Given the description of an element on the screen output the (x, y) to click on. 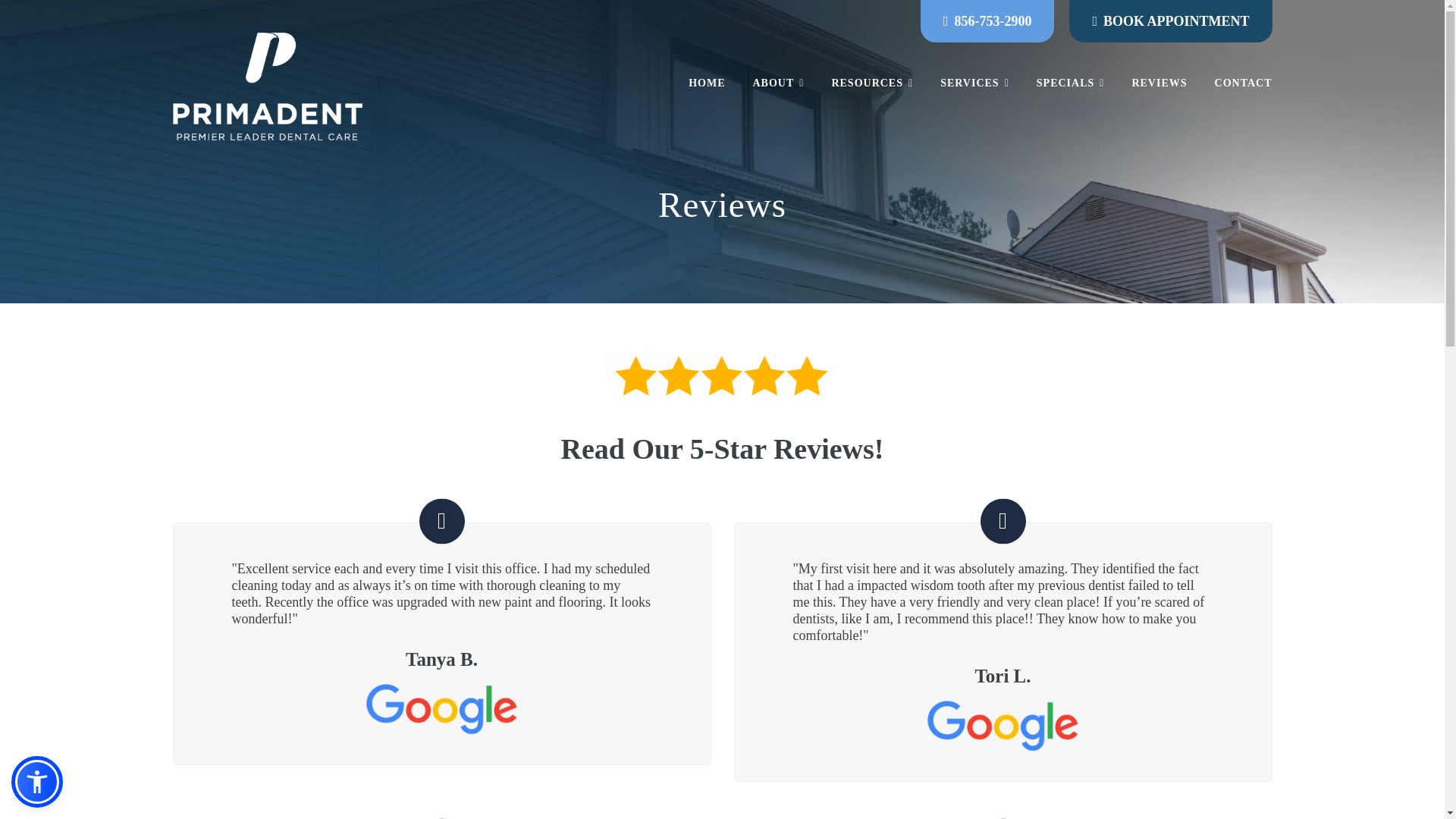
HOME (713, 83)
Open Accessibility Menu (36, 781)
5-stars-png (721, 375)
856-753-2900 (991, 20)
BOOK APPOINTMENT (1176, 20)
Primadent (267, 85)
ABOUT (777, 83)
RESOURCES (871, 83)
